Given the description of an element on the screen output the (x, y) to click on. 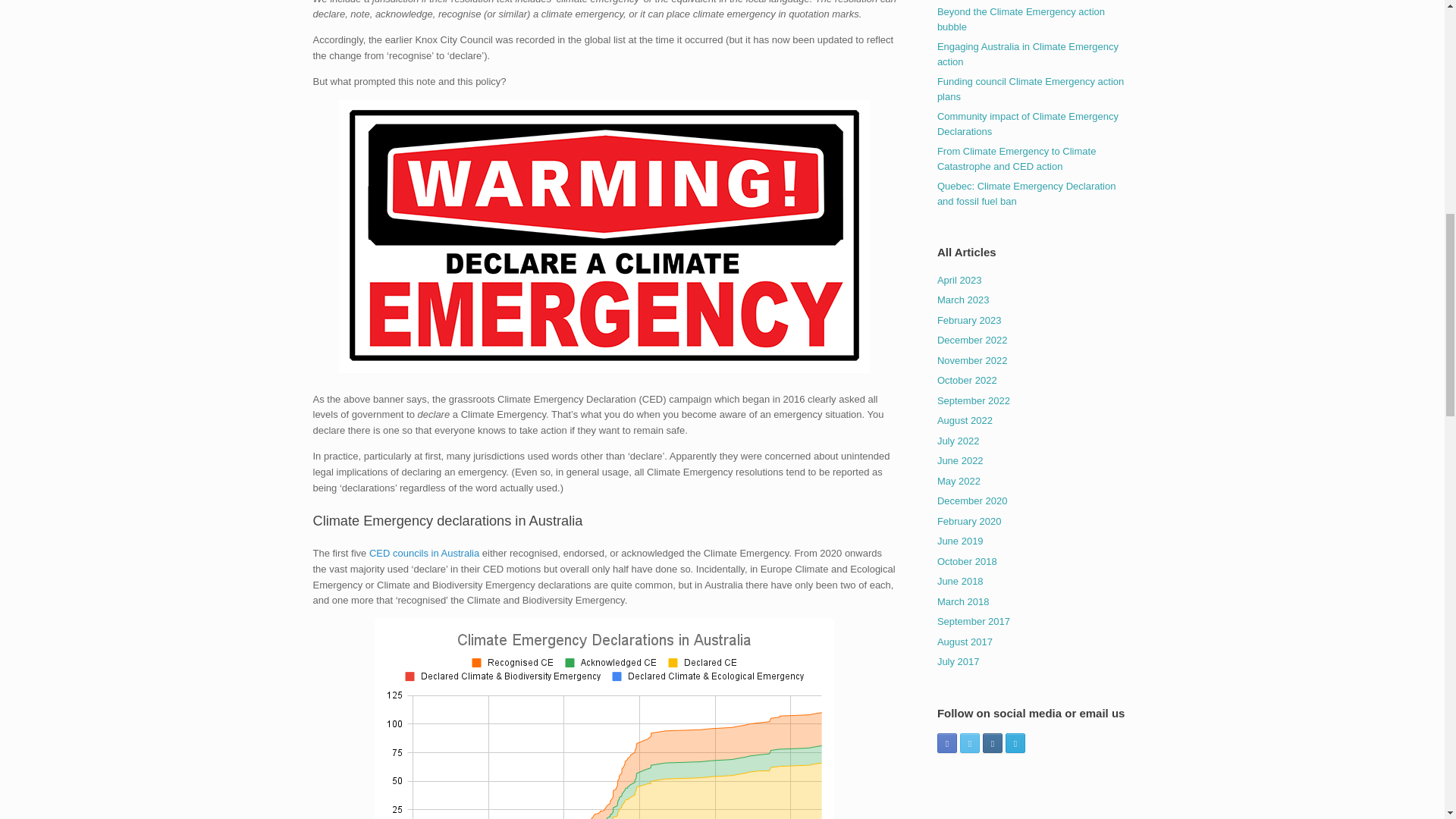
cedamia Facebook (946, 742)
cedamia Instagram (992, 742)
cedamia Email (1015, 742)
